Given the description of an element on the screen output the (x, y) to click on. 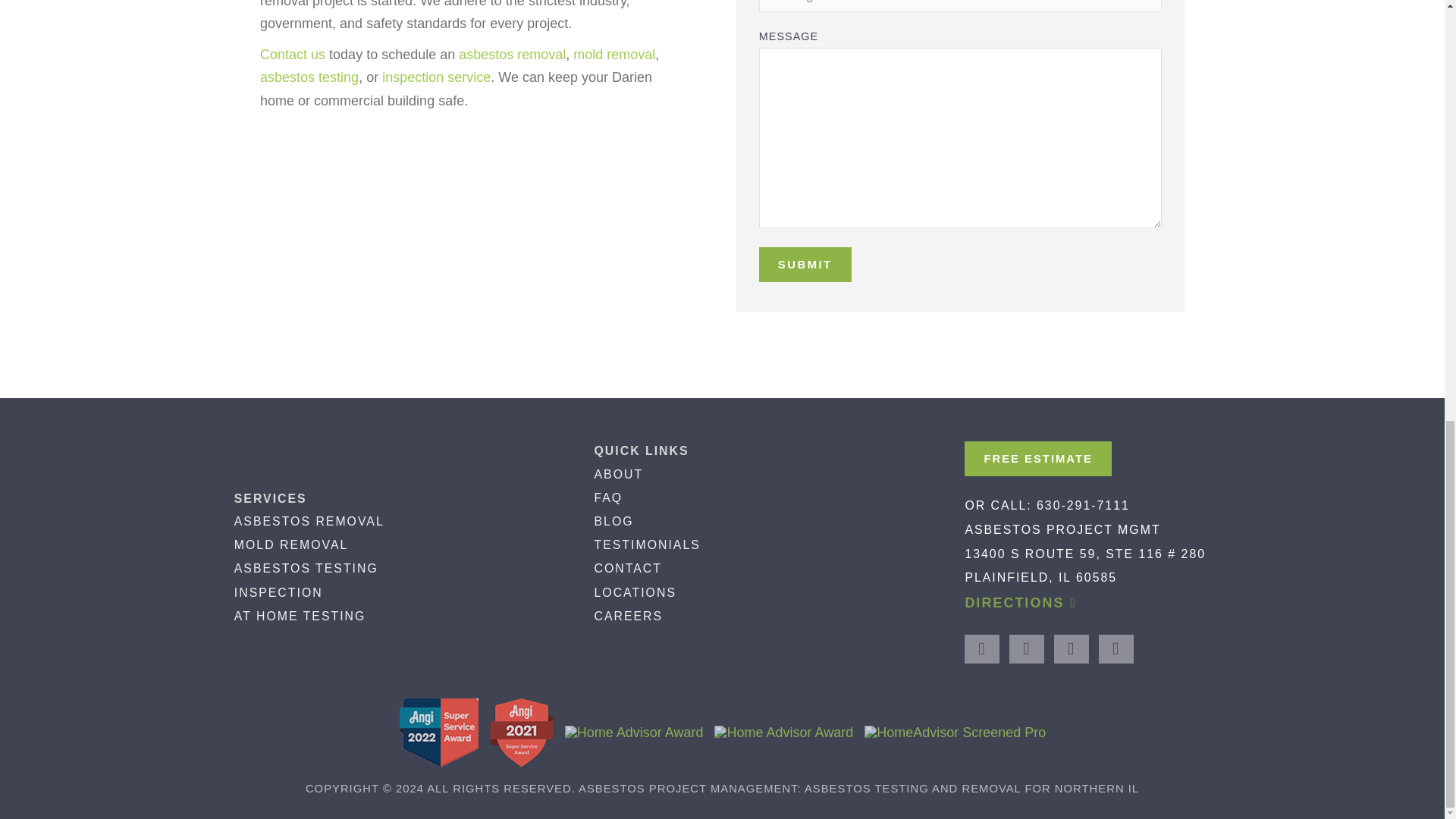
SERVICES (270, 498)
DIRECTIONS (1020, 609)
Facebook (980, 648)
FAQ (608, 497)
Submit (804, 264)
Google Plus (1026, 648)
FREE ESTIMATE (1037, 458)
AT HOME TESTING (300, 615)
Twitter (1071, 648)
LOCATIONS (634, 591)
